Given the description of an element on the screen output the (x, y) to click on. 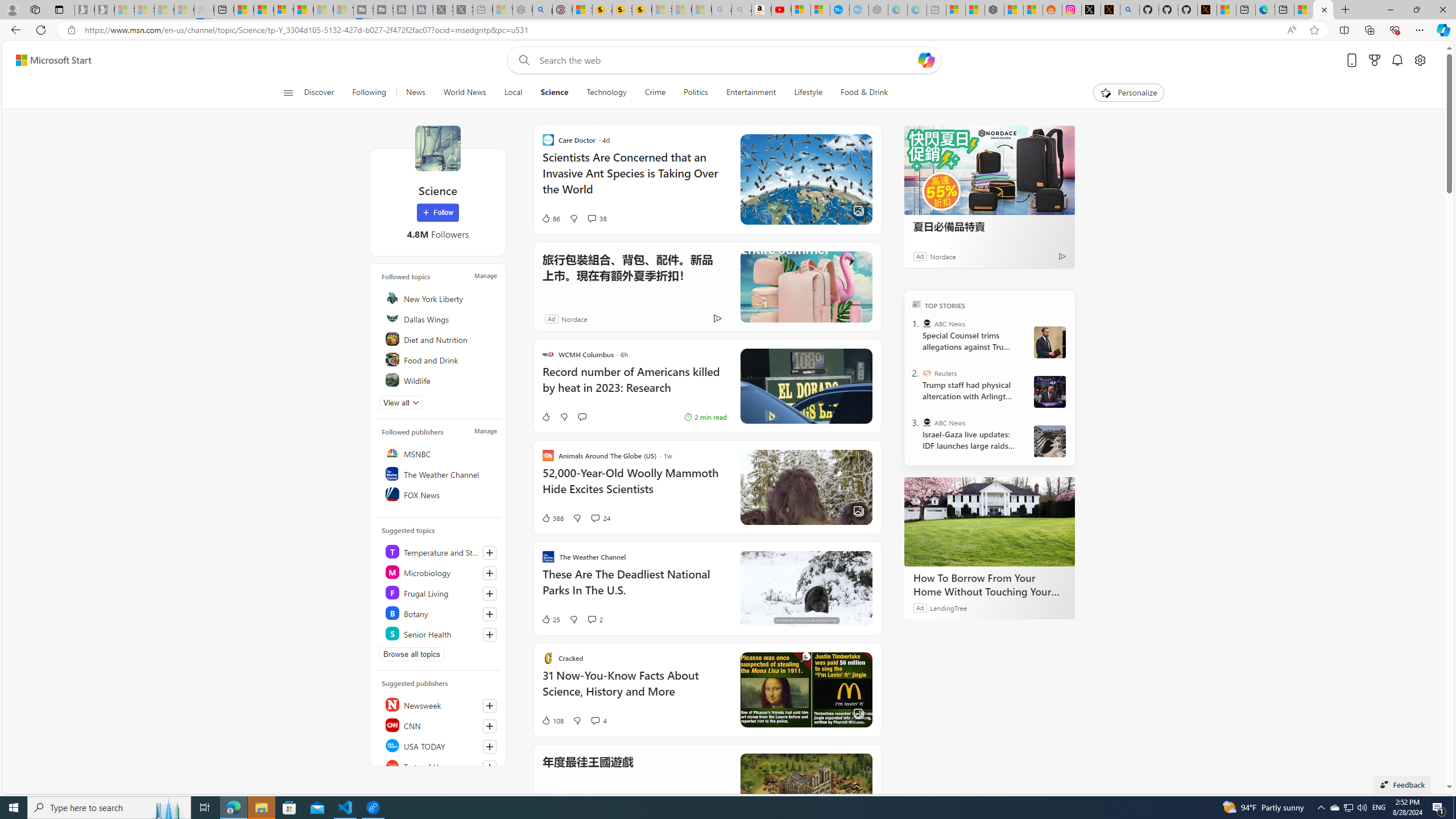
FOX News (439, 493)
LendingTree (948, 607)
Lifestyle (807, 92)
Open settings (1420, 60)
New York Liberty (439, 298)
TOP (916, 302)
The Weather Channel (439, 473)
